Given the description of an element on the screen output the (x, y) to click on. 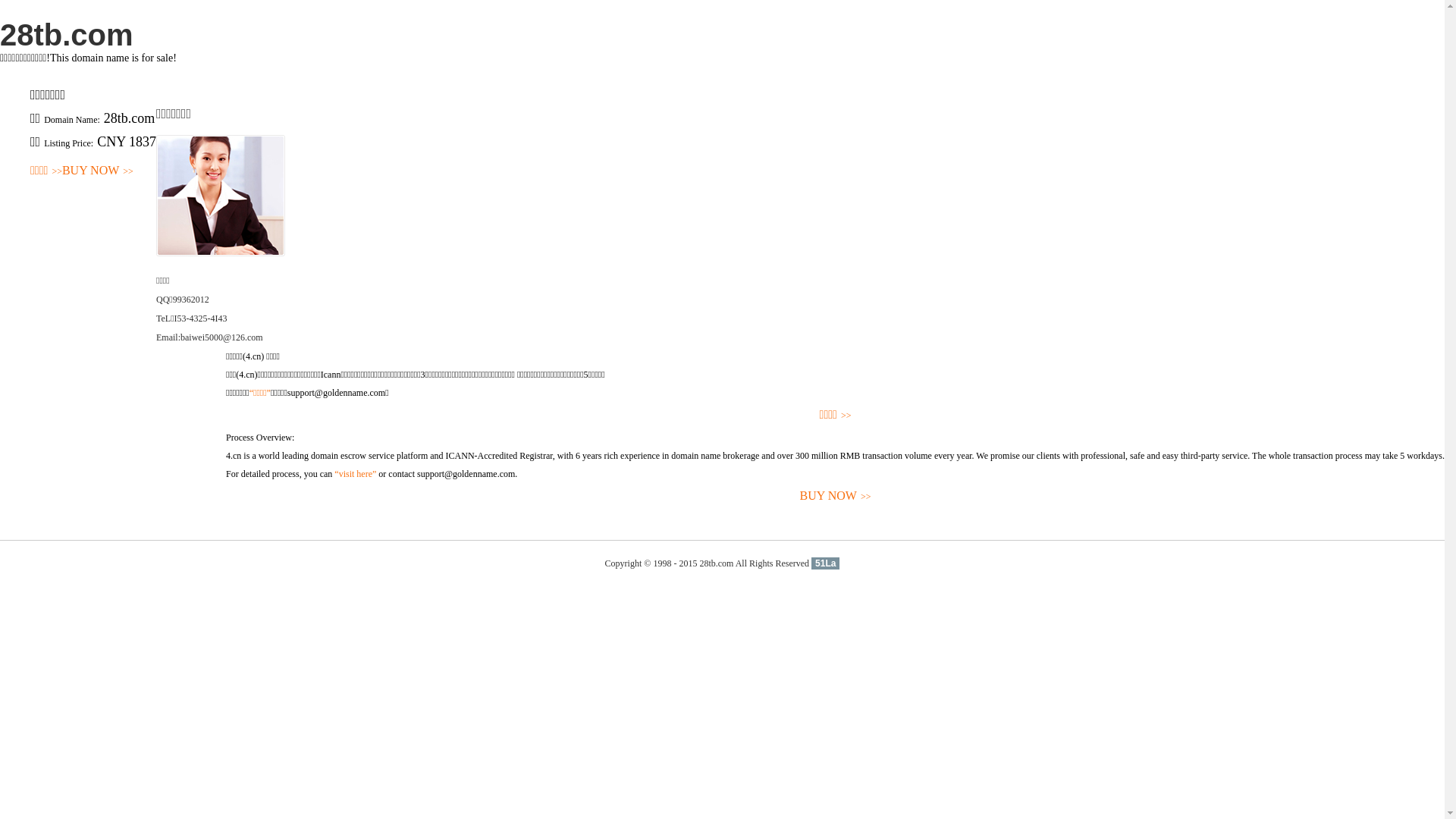
BUY NOW>> Element type: text (834, 496)
BUY NOW>> Element type: text (97, 170)
51La Element type: text (825, 563)
